Given the description of an element on the screen output the (x, y) to click on. 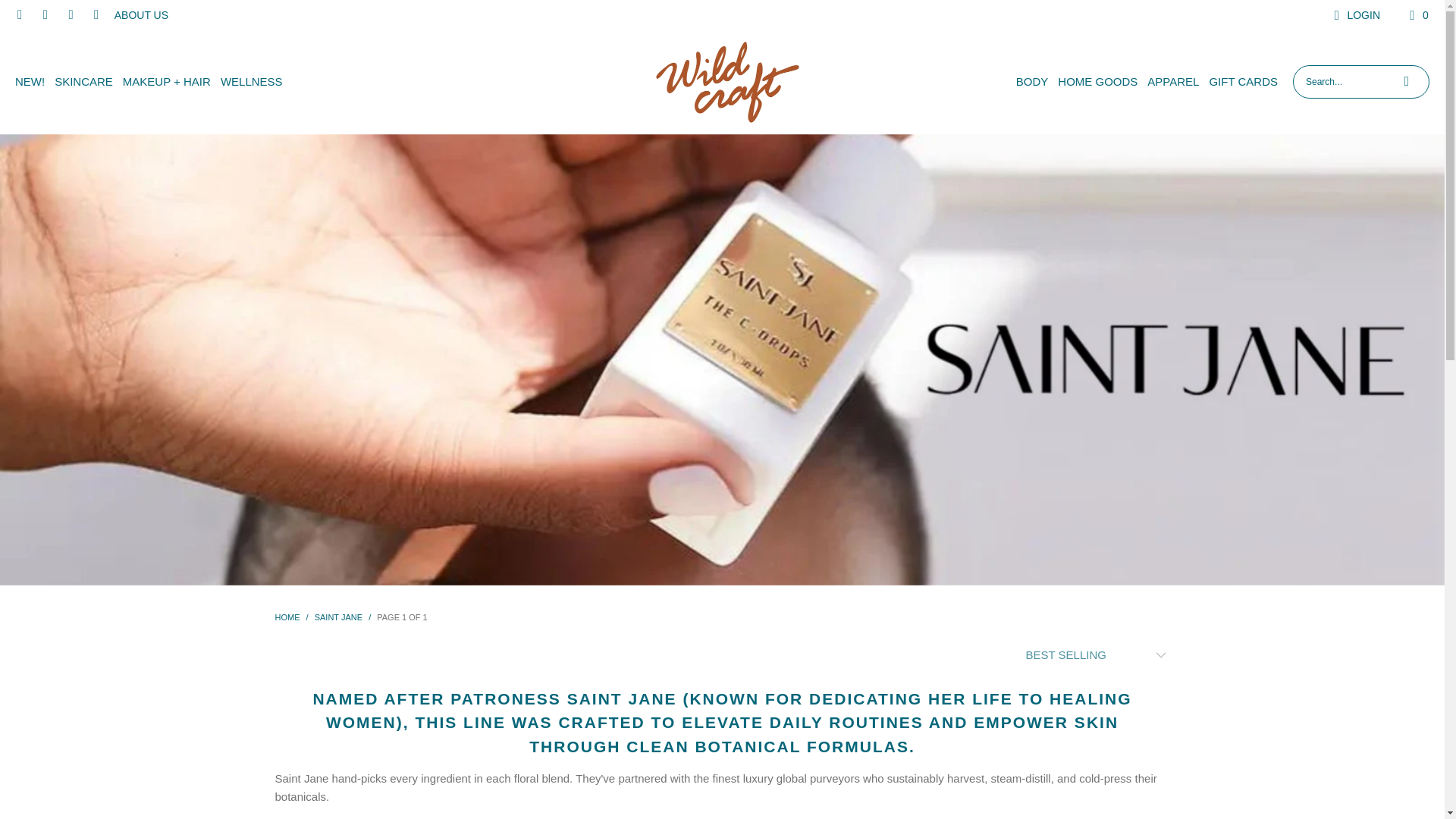
Wildcraft on Facebook (18, 15)
ABOUT US (141, 14)
Wildcraft on TikTok (69, 15)
Wildcraft on YouTube (95, 15)
LOGIN (1353, 14)
Wildcraft (727, 81)
Wildcraft (287, 616)
My Account  (1353, 14)
Saint Jane (338, 616)
Wildcraft on Instagram (44, 15)
